Given the description of an element on the screen output the (x, y) to click on. 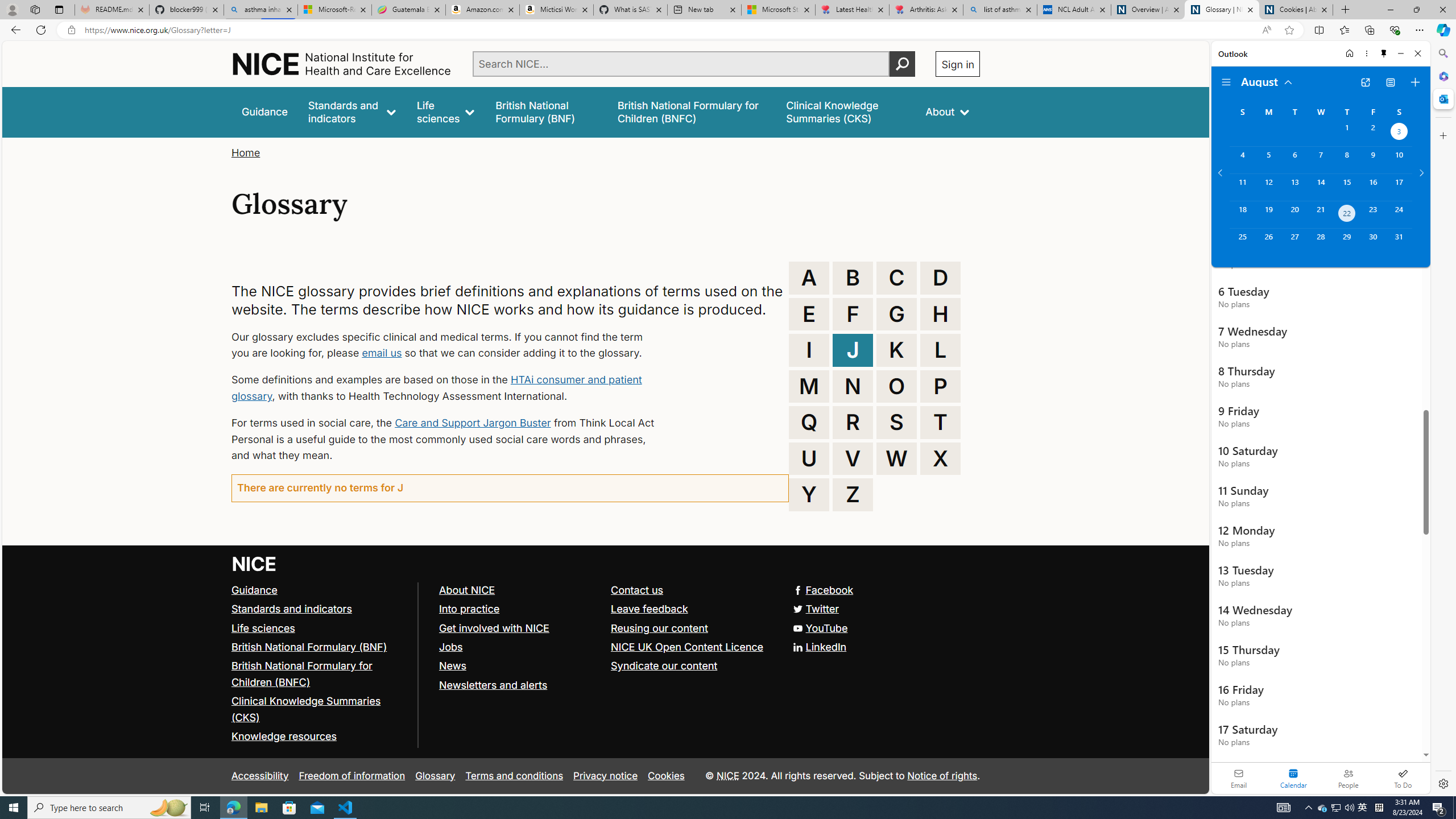
Saturday, August 17, 2024.  (1399, 186)
D (940, 277)
Create event (1414, 82)
Leave feedback (649, 608)
Folder navigation (1225, 82)
Guidance (254, 589)
Tuesday, August 27, 2024.  (1294, 241)
Life sciences (446, 111)
R (852, 422)
E (809, 313)
To Do (1402, 777)
